Given the description of an element on the screen output the (x, y) to click on. 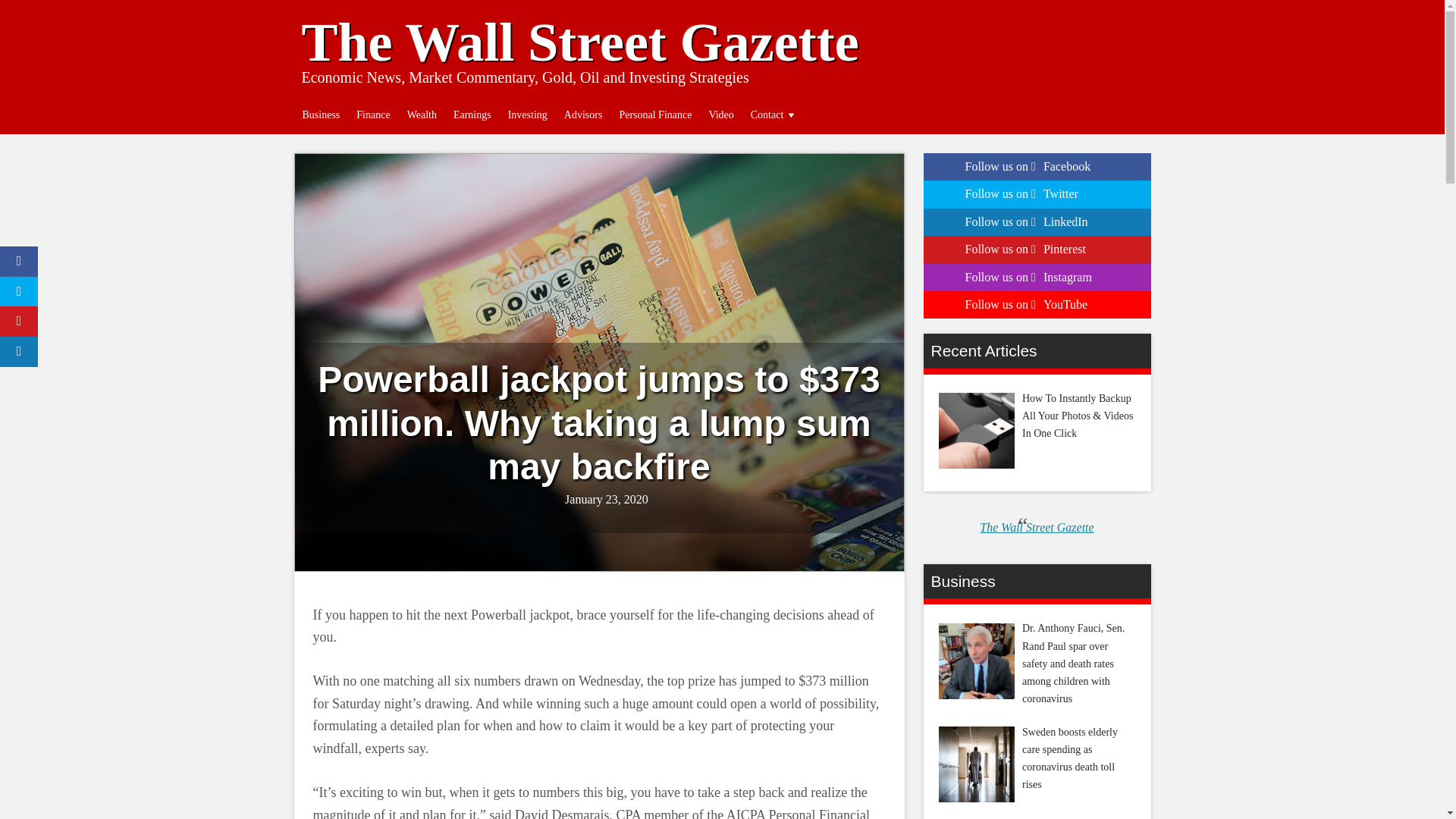
Advisors (583, 115)
Investing (527, 115)
Contact (774, 115)
Finance (372, 115)
Wealth (421, 115)
Personal Finance (655, 115)
Business (321, 115)
The Wall Street Gazette (580, 42)
Video (720, 115)
Earnings (472, 115)
